Given the description of an element on the screen output the (x, y) to click on. 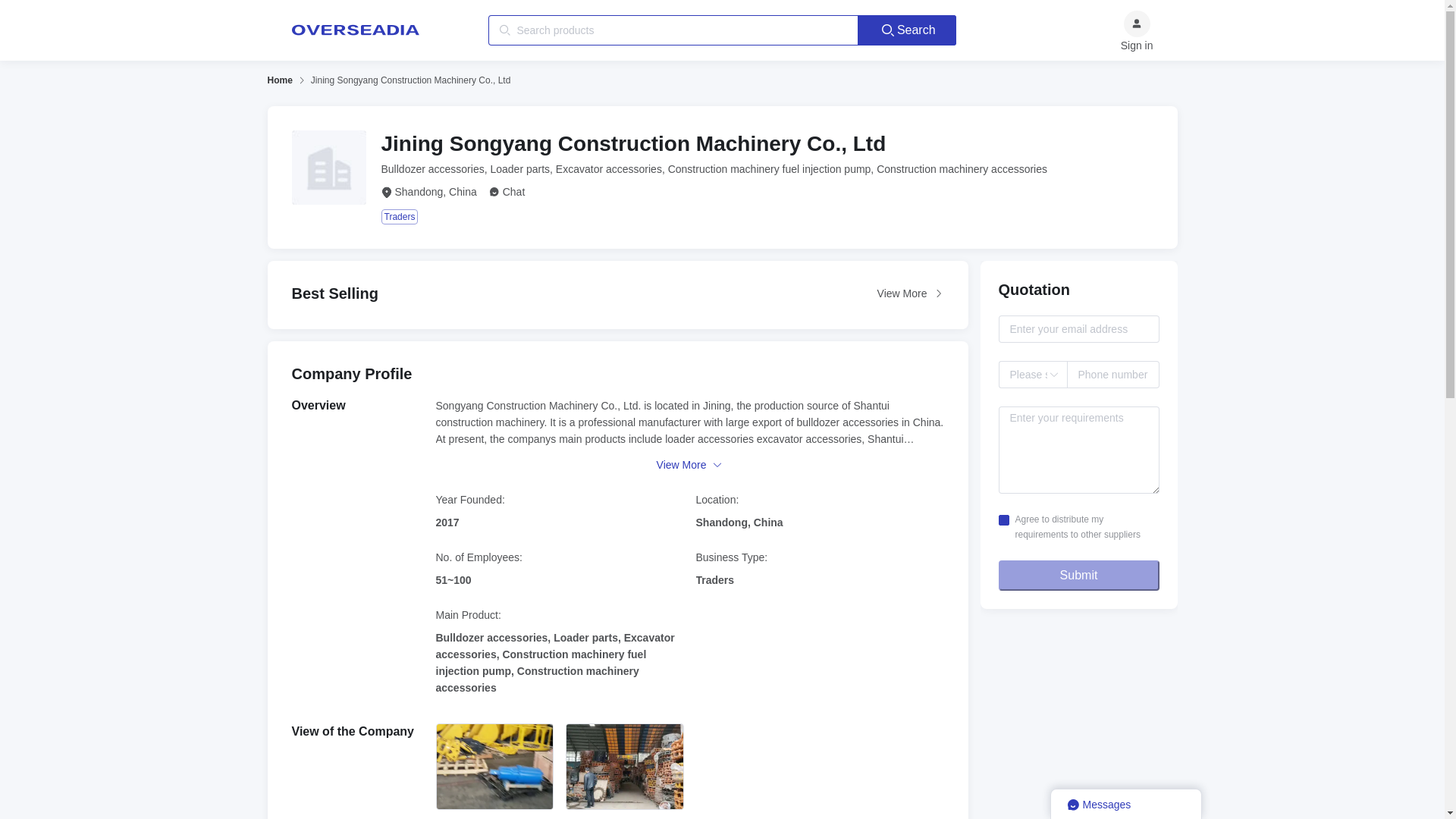
Submit (1077, 575)
Search (907, 30)
View More (910, 293)
Messages (1125, 803)
